Given the description of an element on the screen output the (x, y) to click on. 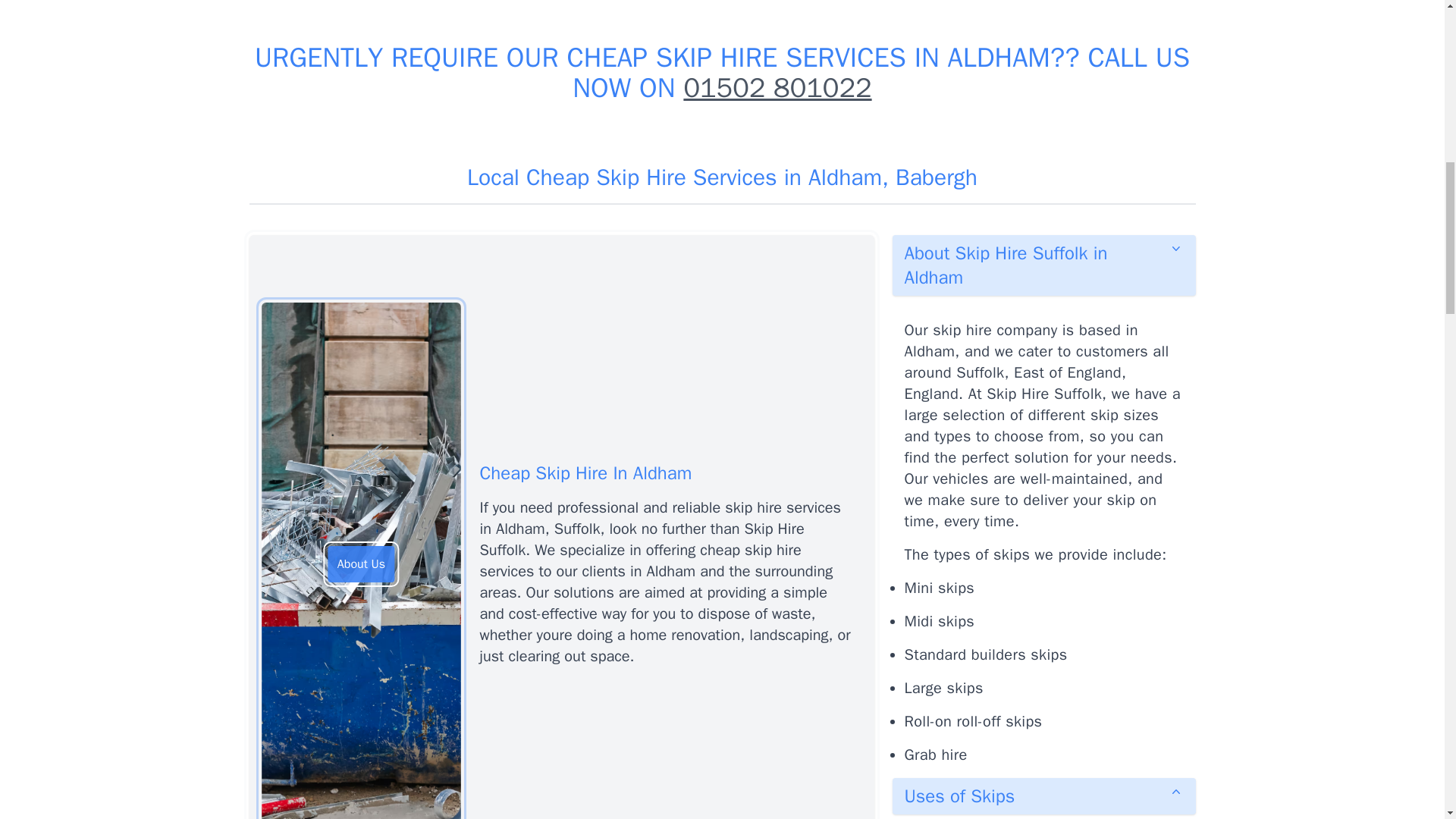
01502 801022 (776, 87)
Uses of Skips (1043, 796)
About Skip Hire Suffolk in Aldham (1043, 265)
About Us (361, 564)
